Given the description of an element on the screen output the (x, y) to click on. 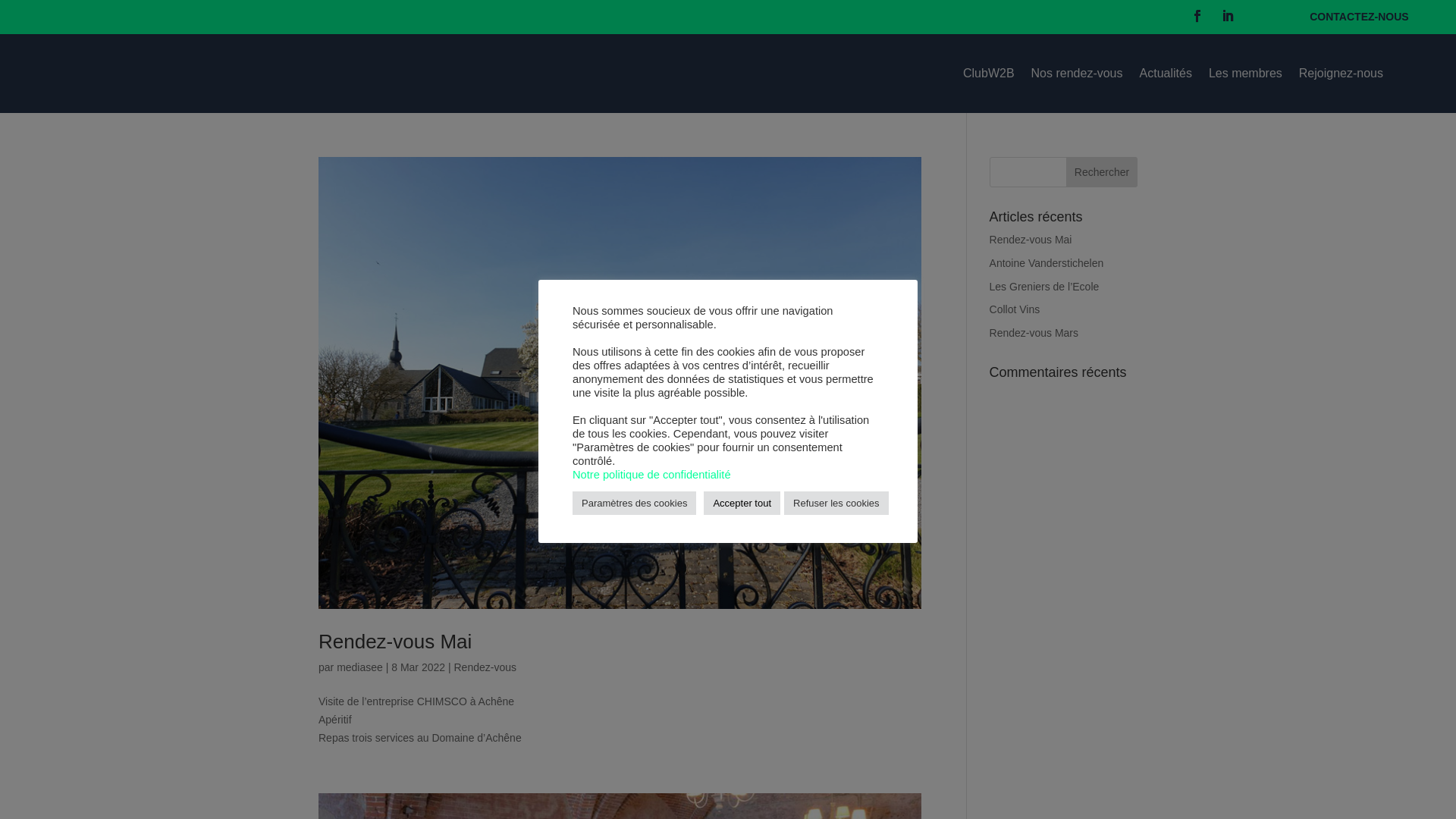
Rejoignez-nous Element type: text (1341, 73)
Antoine Vanderstichelen Element type: text (1046, 263)
ClubW2B Element type: text (988, 73)
Rendez-vous Mai Element type: text (394, 641)
Nos rendez-vous Element type: text (1077, 73)
Suivez sur LinkedIn Element type: hover (1227, 15)
Accepter tout Element type: text (741, 502)
Rendez-vous Mars Element type: text (1034, 332)
Rechercher Element type: text (1101, 171)
Rendez-vous Element type: text (484, 667)
Collot Vins Element type: text (1014, 309)
Refuser les cookies Element type: text (836, 502)
Les membres Element type: text (1245, 73)
mediasee Element type: text (359, 667)
Suivez sur Facebook Element type: hover (1197, 15)
Rendez-vous Mai Element type: text (1030, 239)
